Given the description of an element on the screen output the (x, y) to click on. 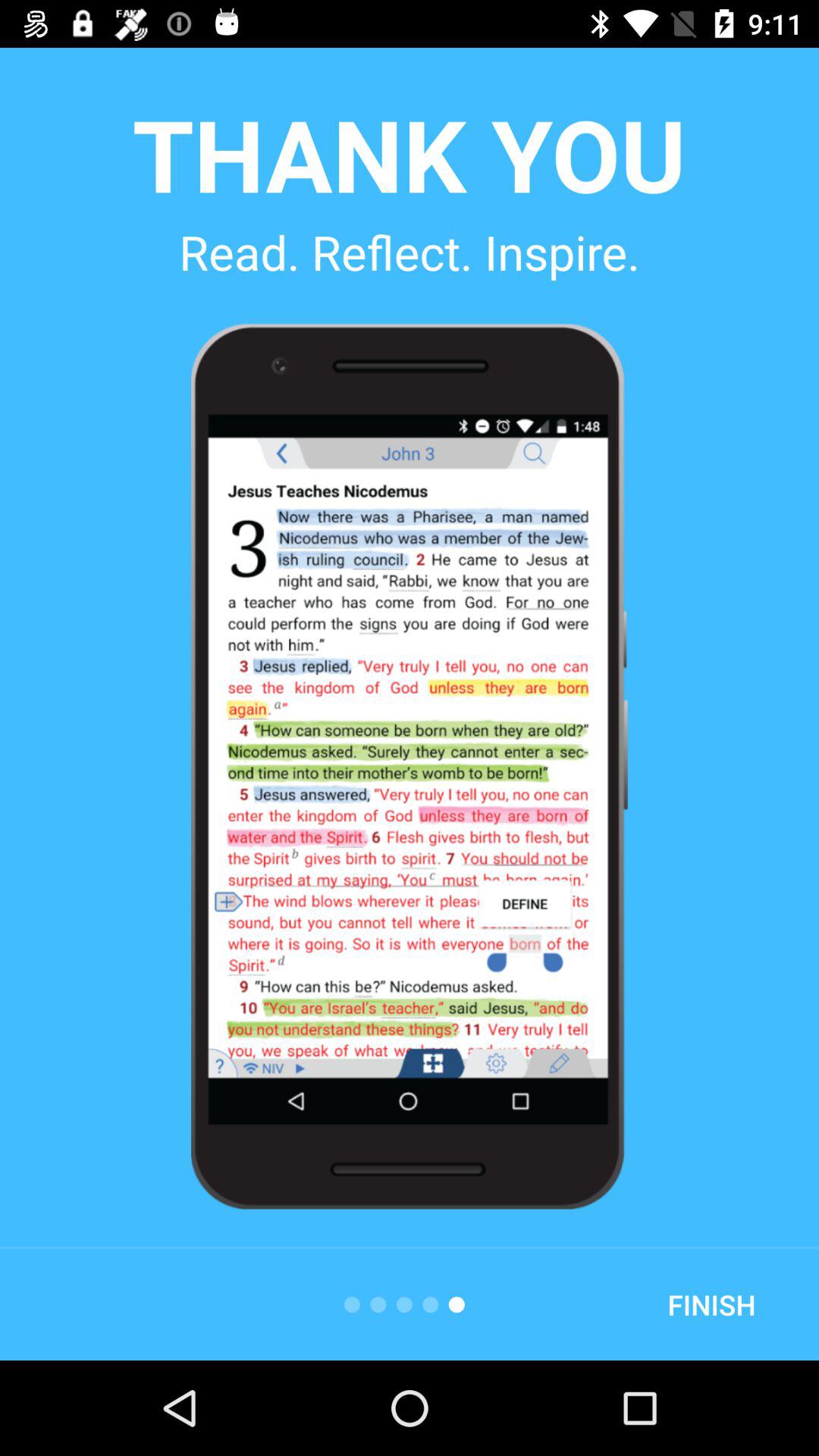
choose finish button (711, 1304)
